Given the description of an element on the screen output the (x, y) to click on. 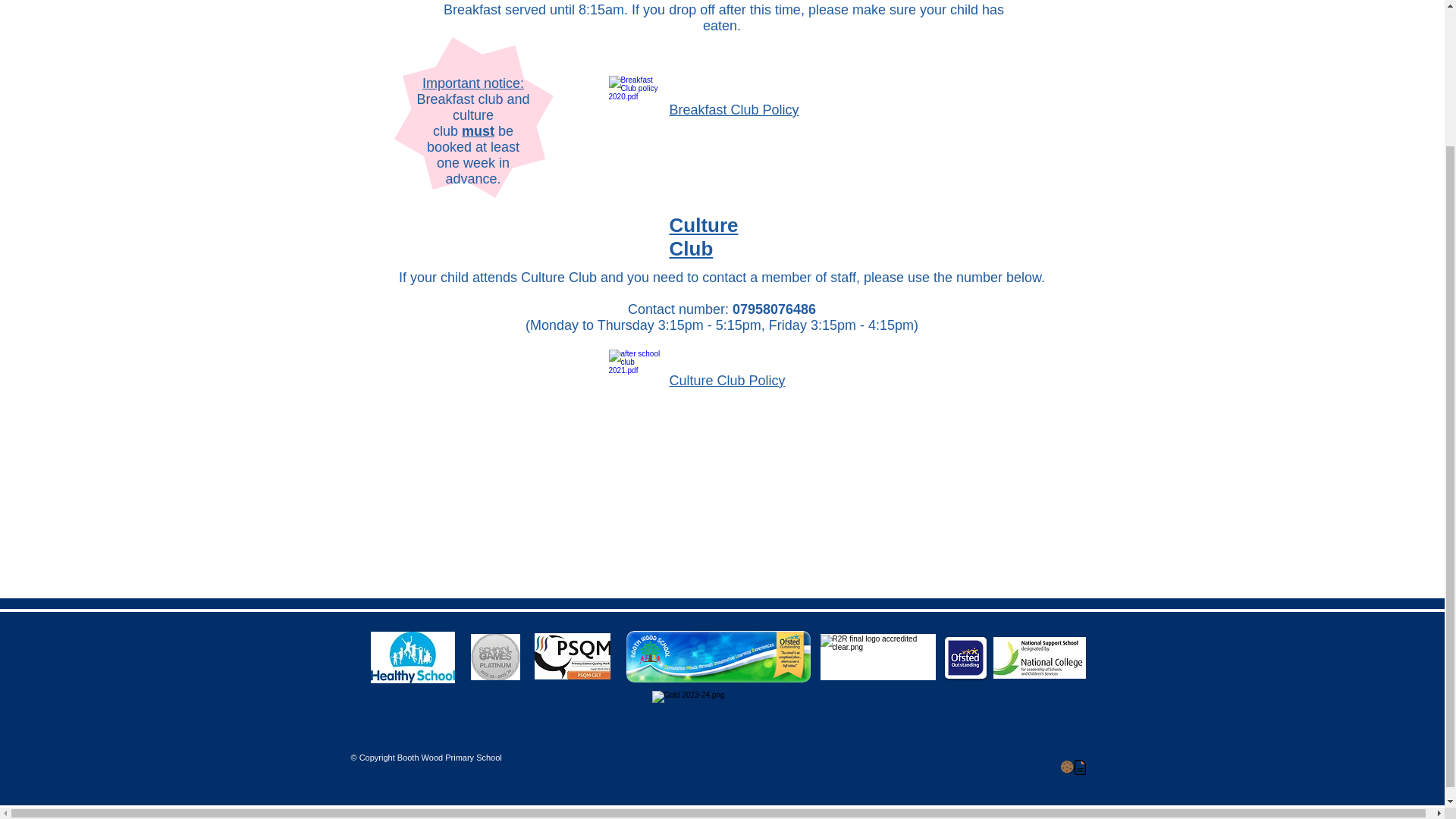
after school club 2021.pdf (637, 382)
Breakfast Club policy 2020.pdf (637, 108)
